Given the description of an element on the screen output the (x, y) to click on. 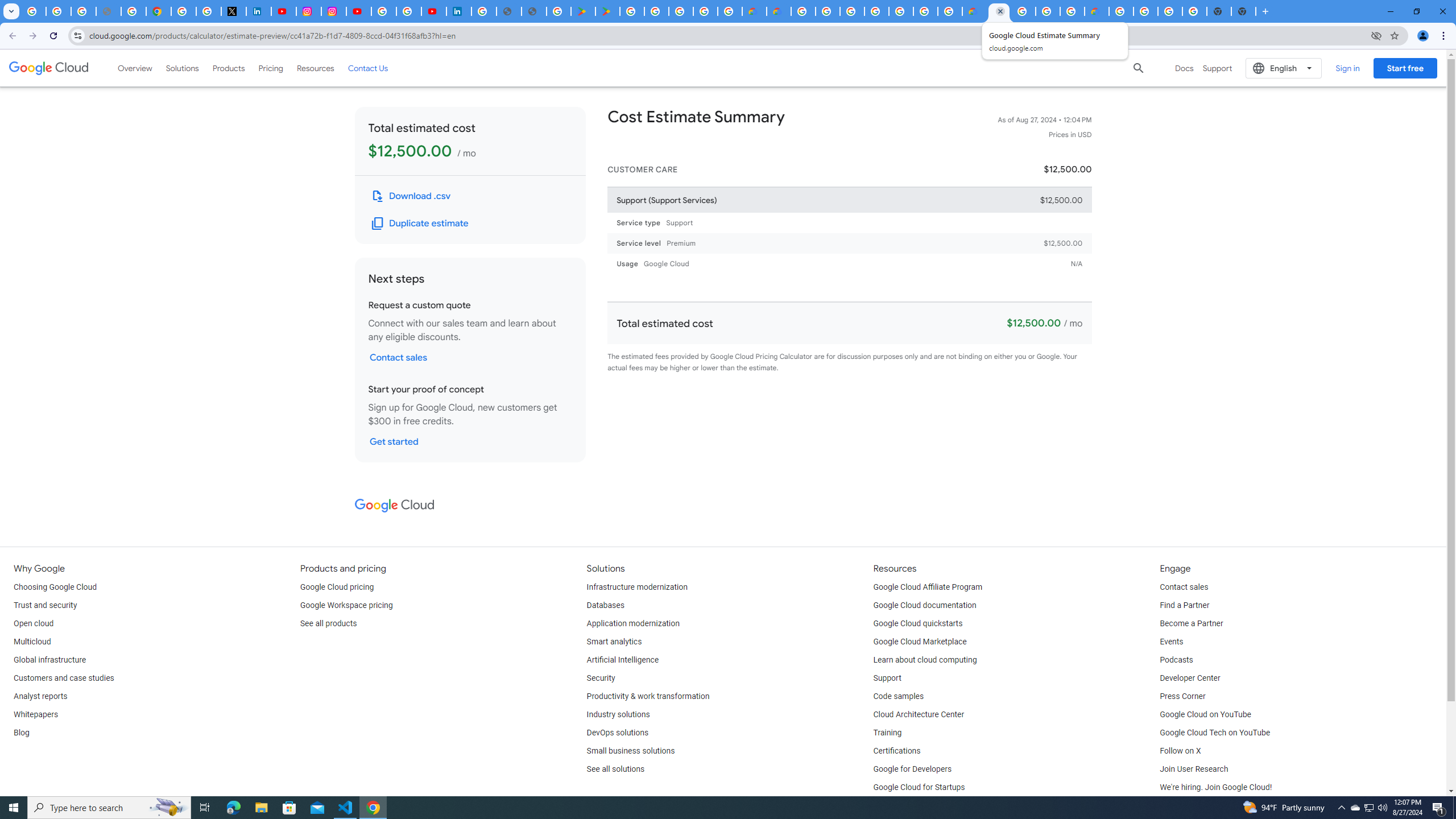
Get started (393, 441)
Google Cloud Estimate Summary (998, 11)
Google Cloud Service Health (1095, 11)
Google Cloud Platform (1120, 11)
Products (228, 67)
Solutions (181, 67)
Browse Chrome as a guest - Computer - Google Chrome Help (1047, 11)
We're hiring. Join Google Cloud! (1215, 787)
Google for Developers (912, 769)
Contact sales (1183, 587)
